Given the description of an element on the screen output the (x, y) to click on. 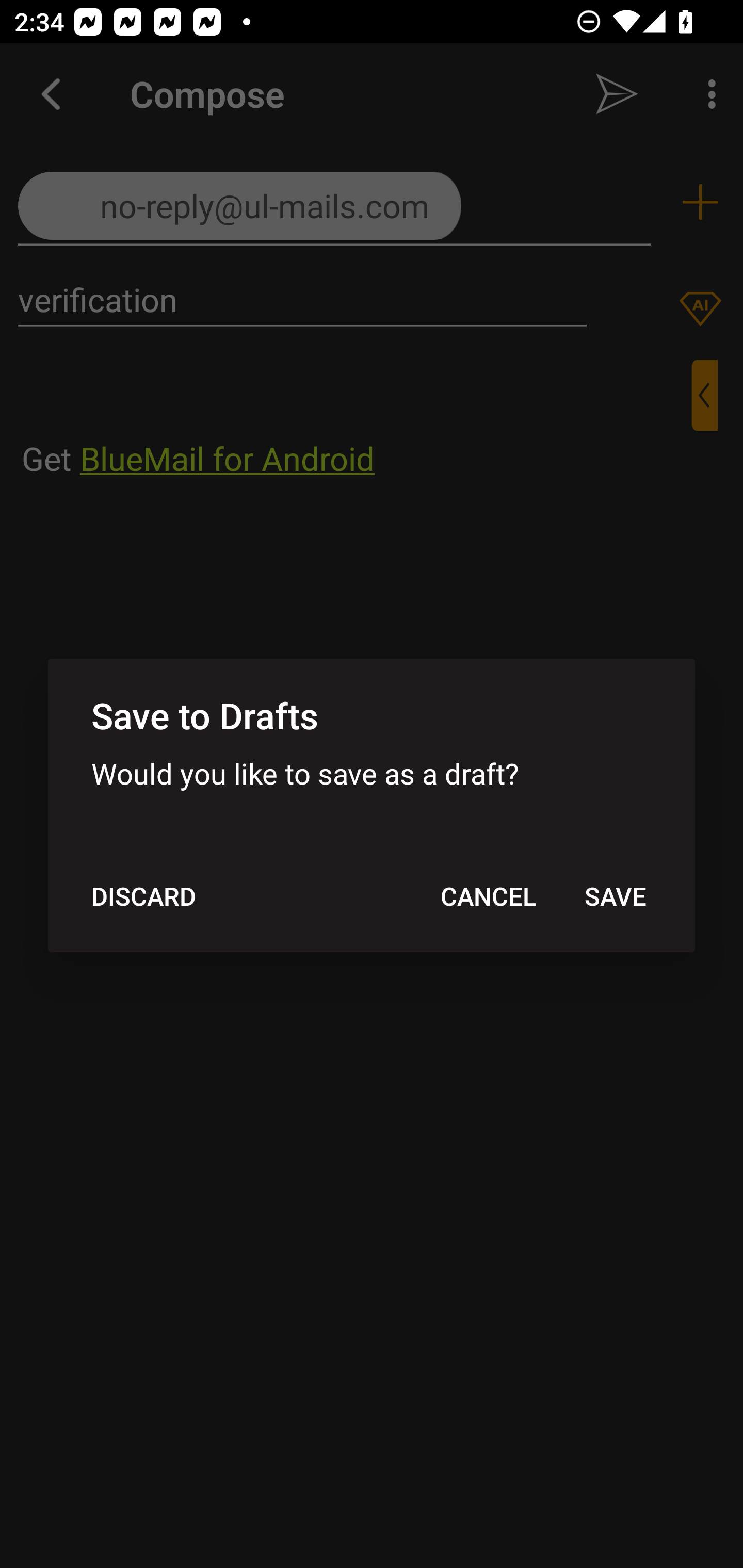
DISCARD (143, 895)
CANCEL (488, 895)
SAVE (615, 895)
